Given the description of an element on the screen output the (x, y) to click on. 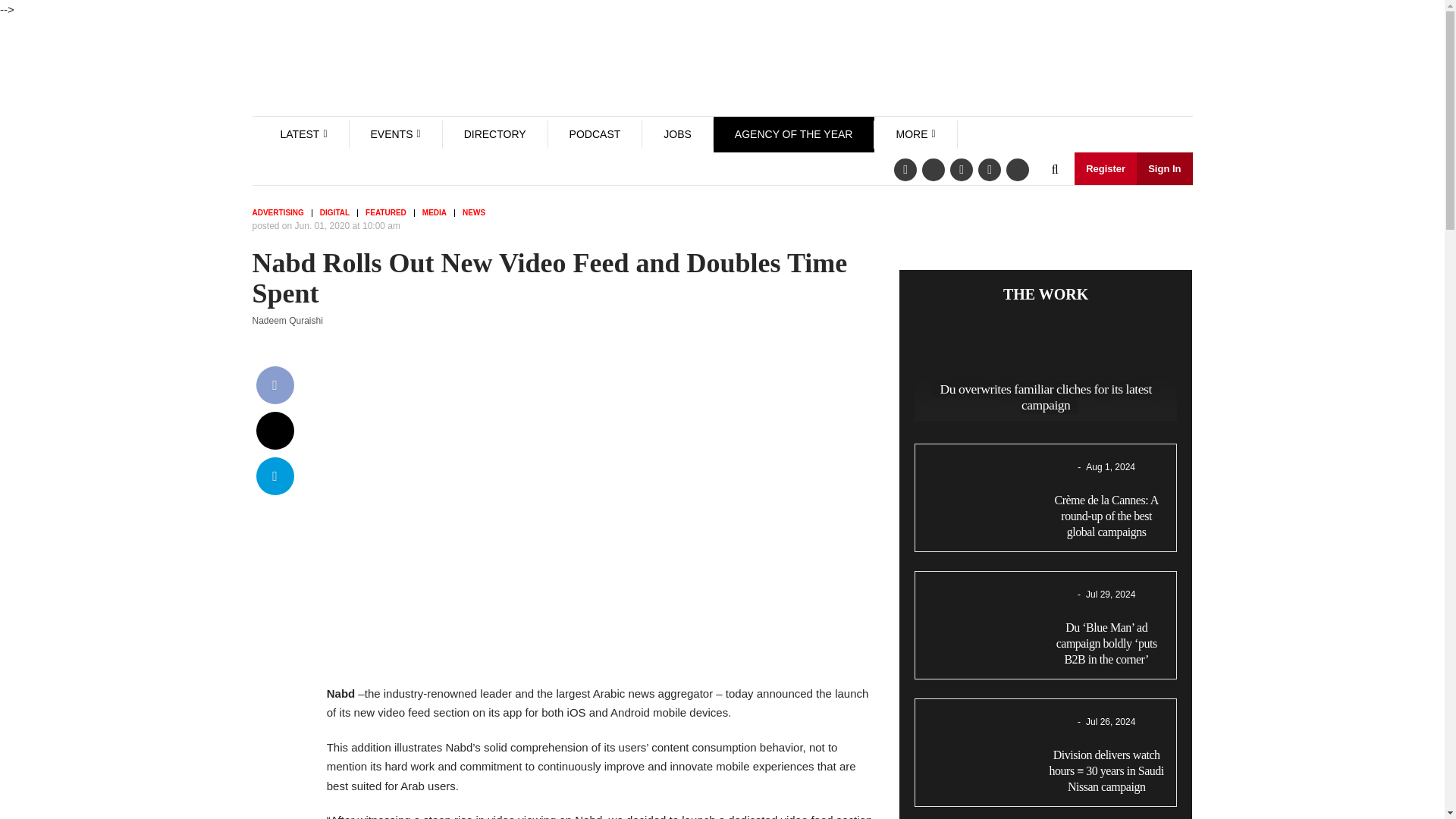
LATEST (300, 134)
Digital (339, 213)
search (1054, 169)
Media (438, 213)
Advertising (281, 213)
News (478, 213)
Featured (389, 213)
